Given the description of an element on the screen output the (x, y) to click on. 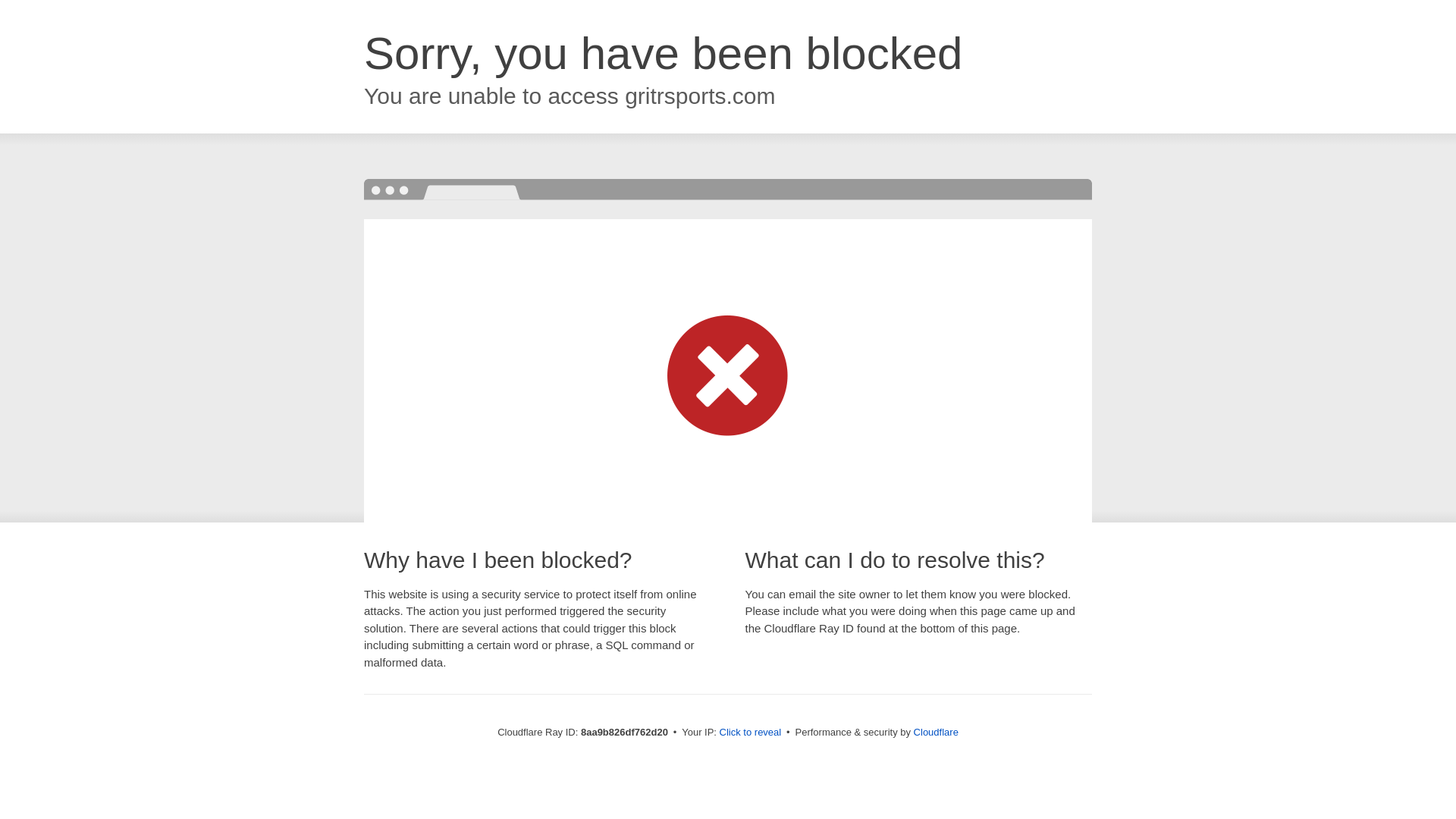
Cloudflare (936, 731)
Click to reveal (750, 732)
